Given the description of an element on the screen output the (x, y) to click on. 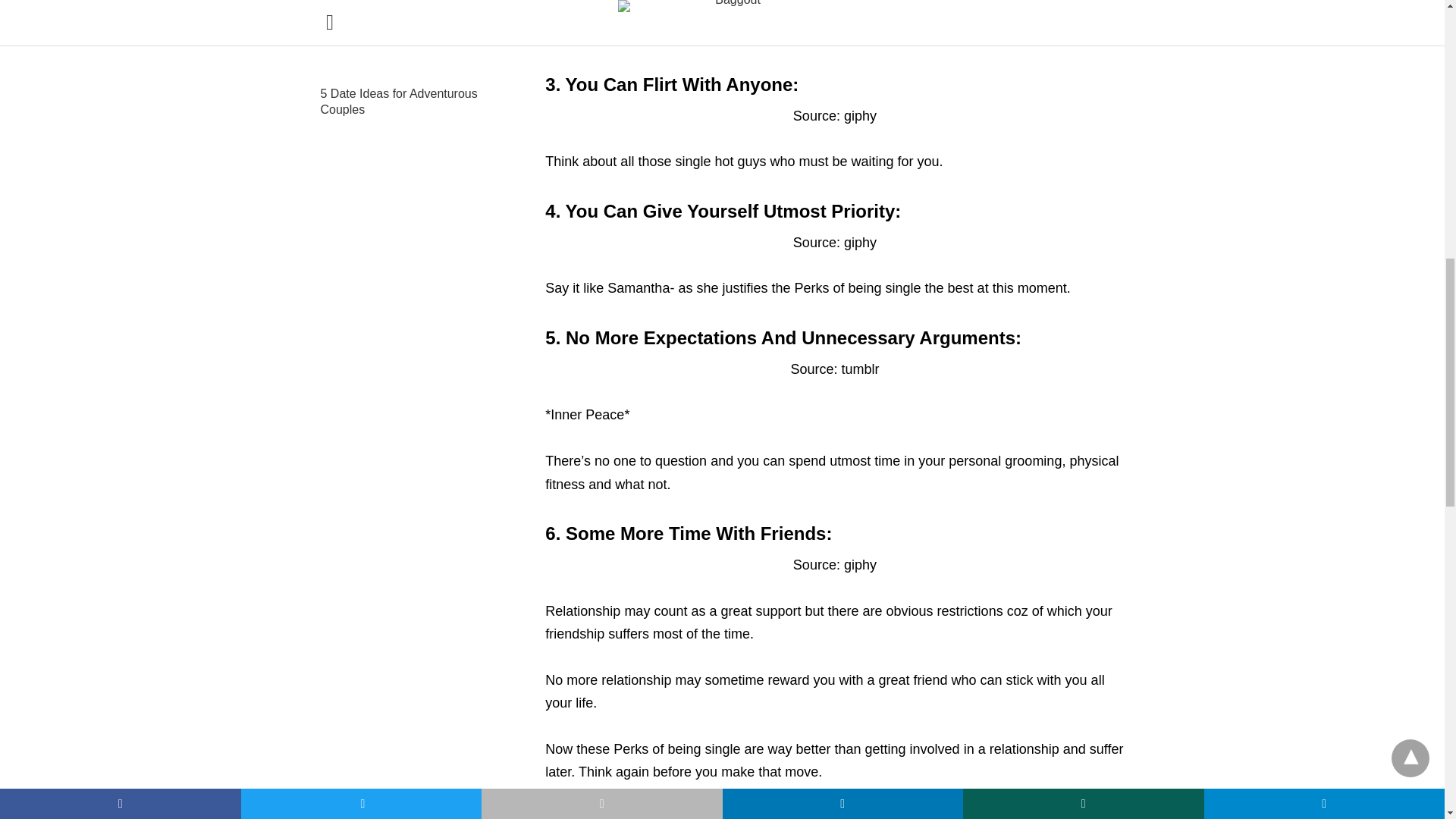
5 Date Ideas for Adventurous Couples (409, 39)
5 Date Ideas for Adventurous Couples (398, 101)
AddThis Website Tools (665, 812)
5 Date Ideas for Adventurous Couples (398, 101)
